Given the description of an element on the screen output the (x, y) to click on. 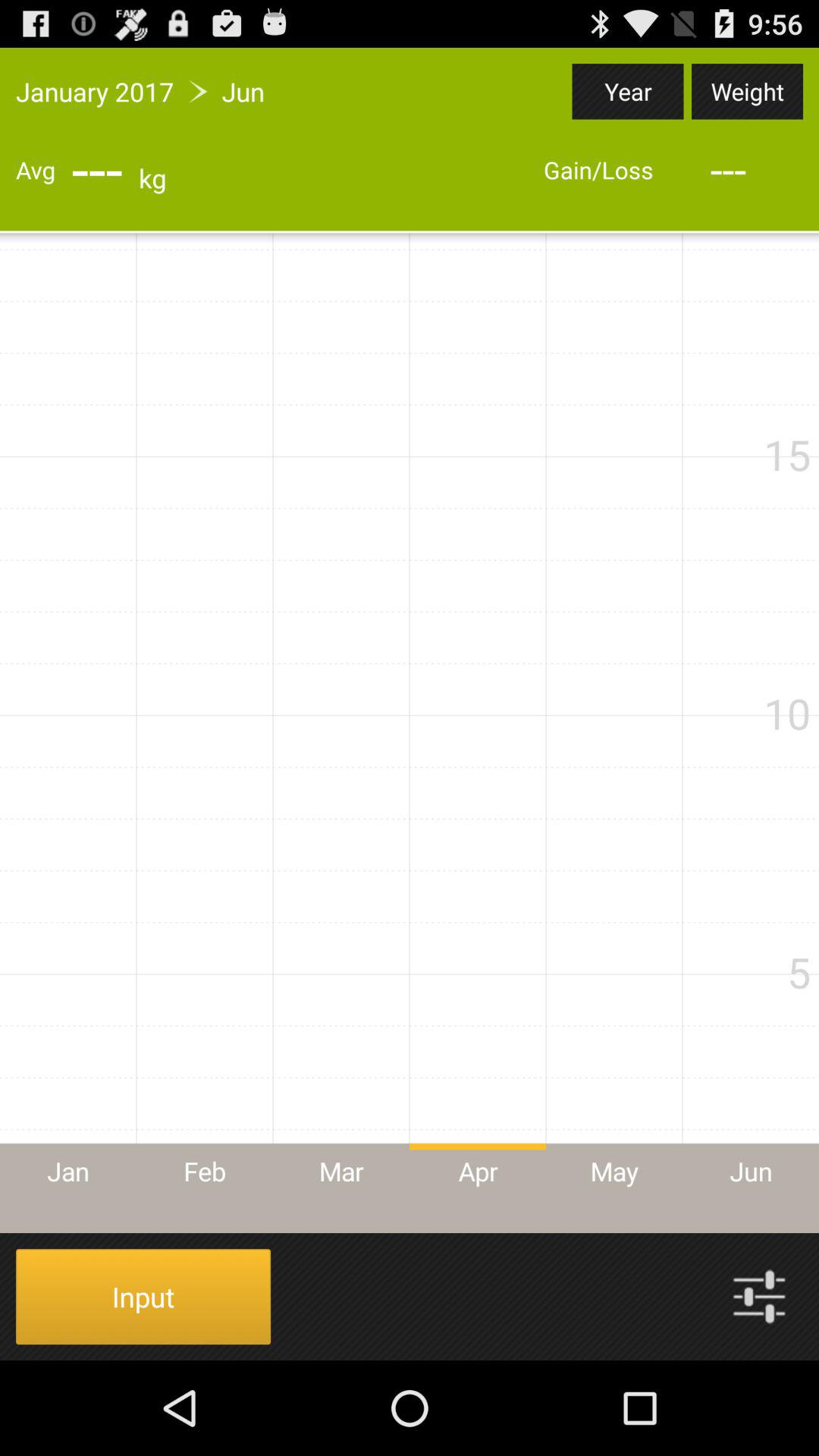
turn on icon at the center (409, 733)
